Given the description of an element on the screen output the (x, y) to click on. 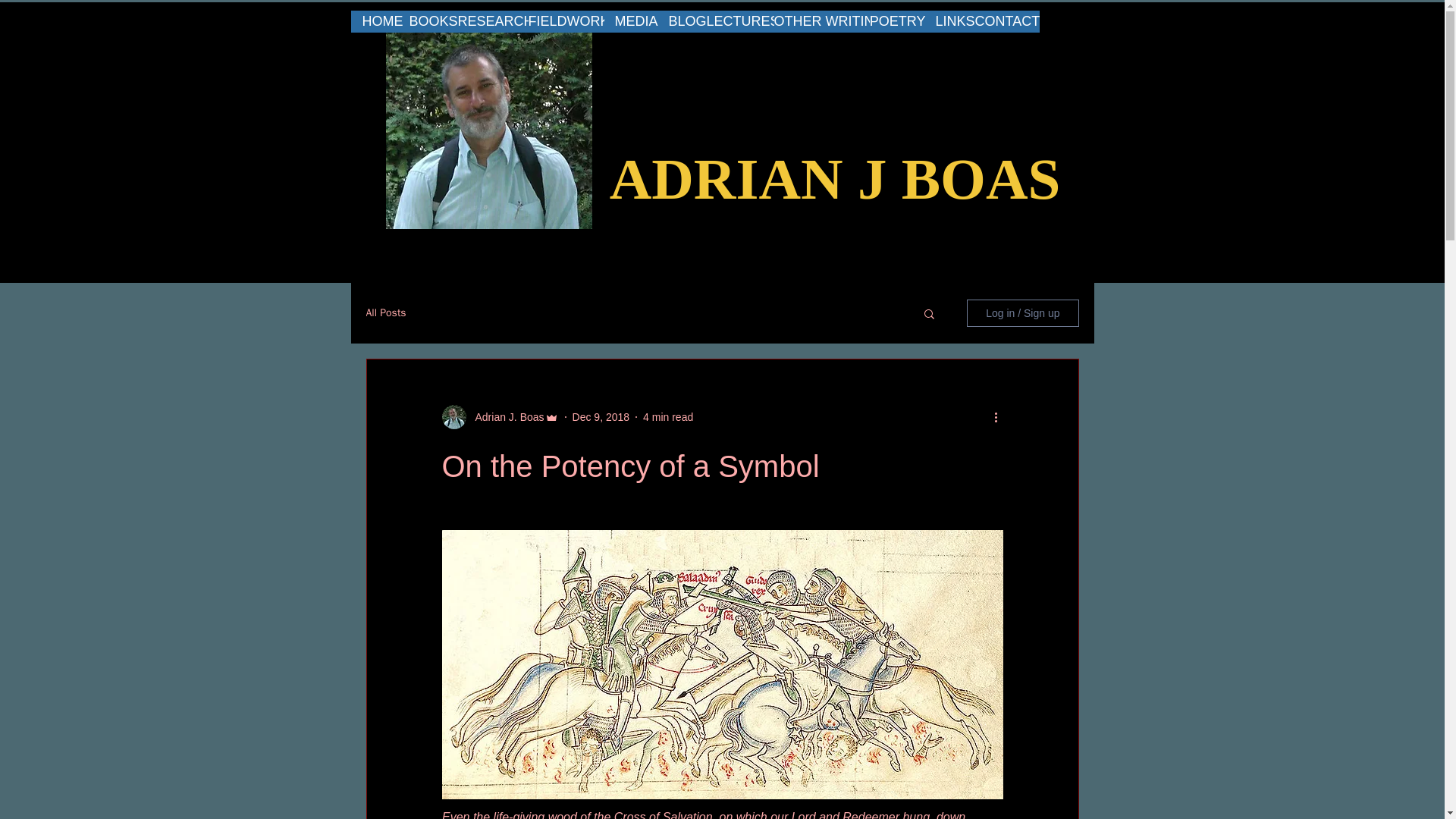
Dec 9, 2018 (601, 417)
POETRY (896, 21)
OTHER WRITING (821, 21)
HOME (376, 21)
ADRIAN J BOAS (835, 178)
MEDIA (631, 21)
LECTURES (740, 21)
LINKS (949, 21)
4 min read (668, 417)
CONTACT (1007, 21)
